Given the description of an element on the screen output the (x, y) to click on. 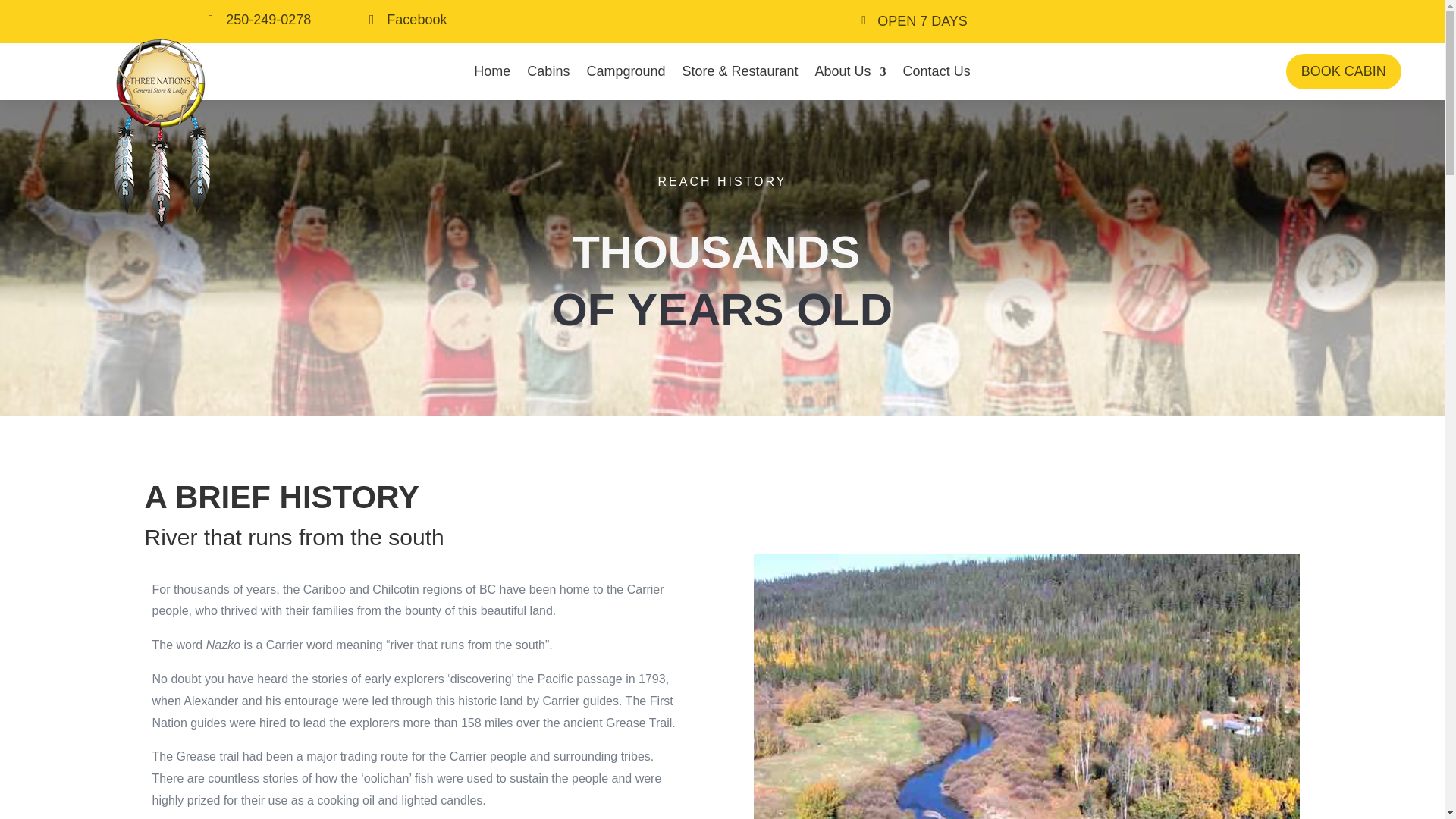
Facebook (416, 20)
Contact Us (936, 71)
BOOK CABIN (1342, 71)
250-249-0278 (210, 20)
Campground (625, 71)
About Us (850, 71)
